Given the description of an element on the screen output the (x, y) to click on. 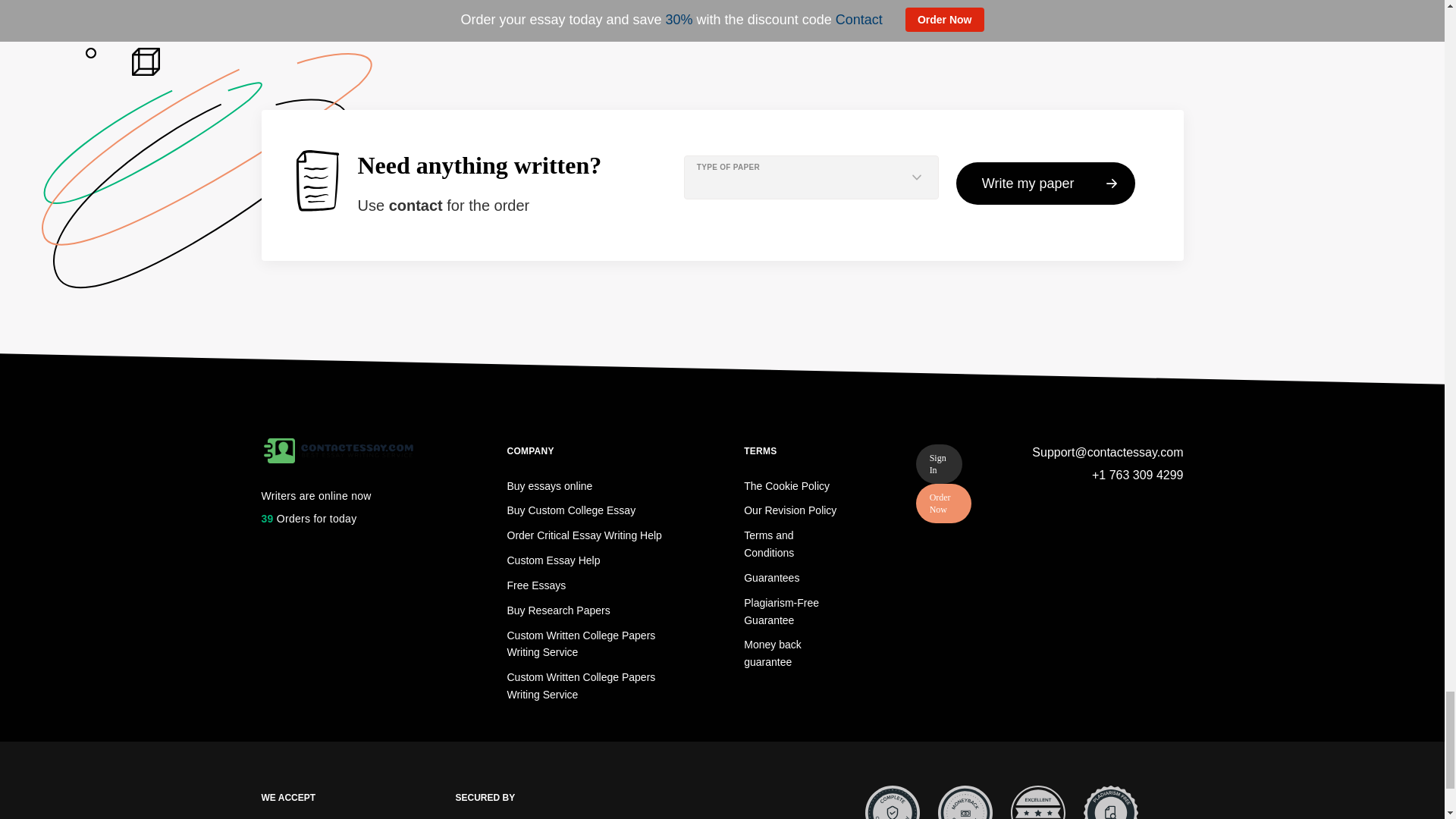
Free Essays (536, 585)
Write my paper (1045, 183)
Order Now (943, 503)
Write my paper (1045, 183)
Sign In (938, 464)
Buy Research Papers (558, 610)
Money back guarantee (772, 653)
Buy essays online (549, 485)
The Cookie Policy (786, 485)
Order Critical Essay Writing Help (583, 535)
